Given the description of an element on the screen output the (x, y) to click on. 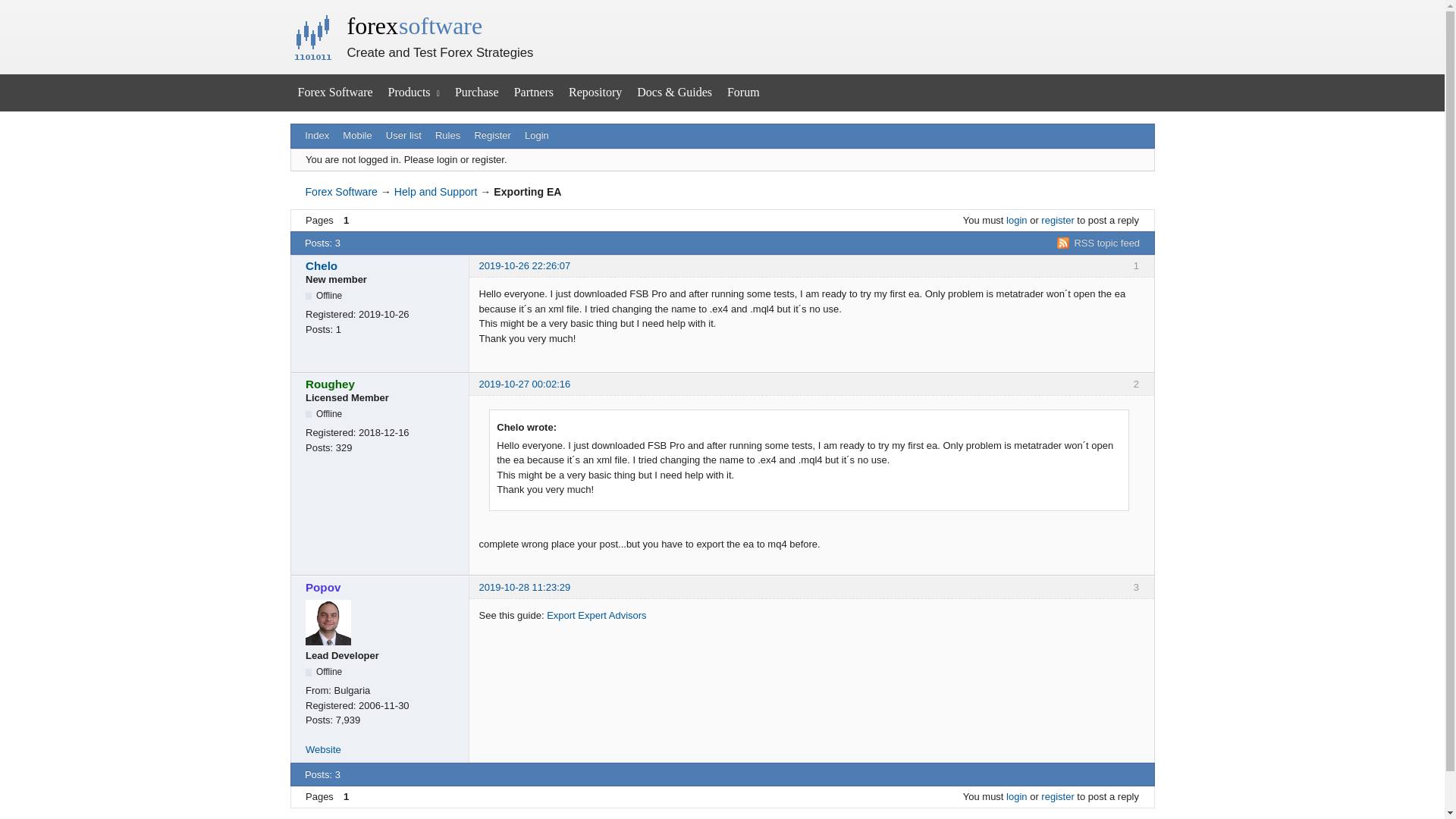
2019-10-28 11:23:29 (524, 586)
Permanent link to this post (524, 586)
Permanent link to this post (524, 265)
Permanent link to this post (524, 383)
RSS topic feed (1098, 242)
Chelo (381, 265)
Mobile (357, 136)
2019-10-26 22:26:07 (524, 265)
Go to Popov's profile (381, 587)
Forex Software (334, 92)
register (1057, 220)
2019-10-27 00:02:16 (524, 383)
Partners (533, 92)
Rules (447, 136)
Go to Roughey's profile (381, 384)
